Given the description of an element on the screen output the (x, y) to click on. 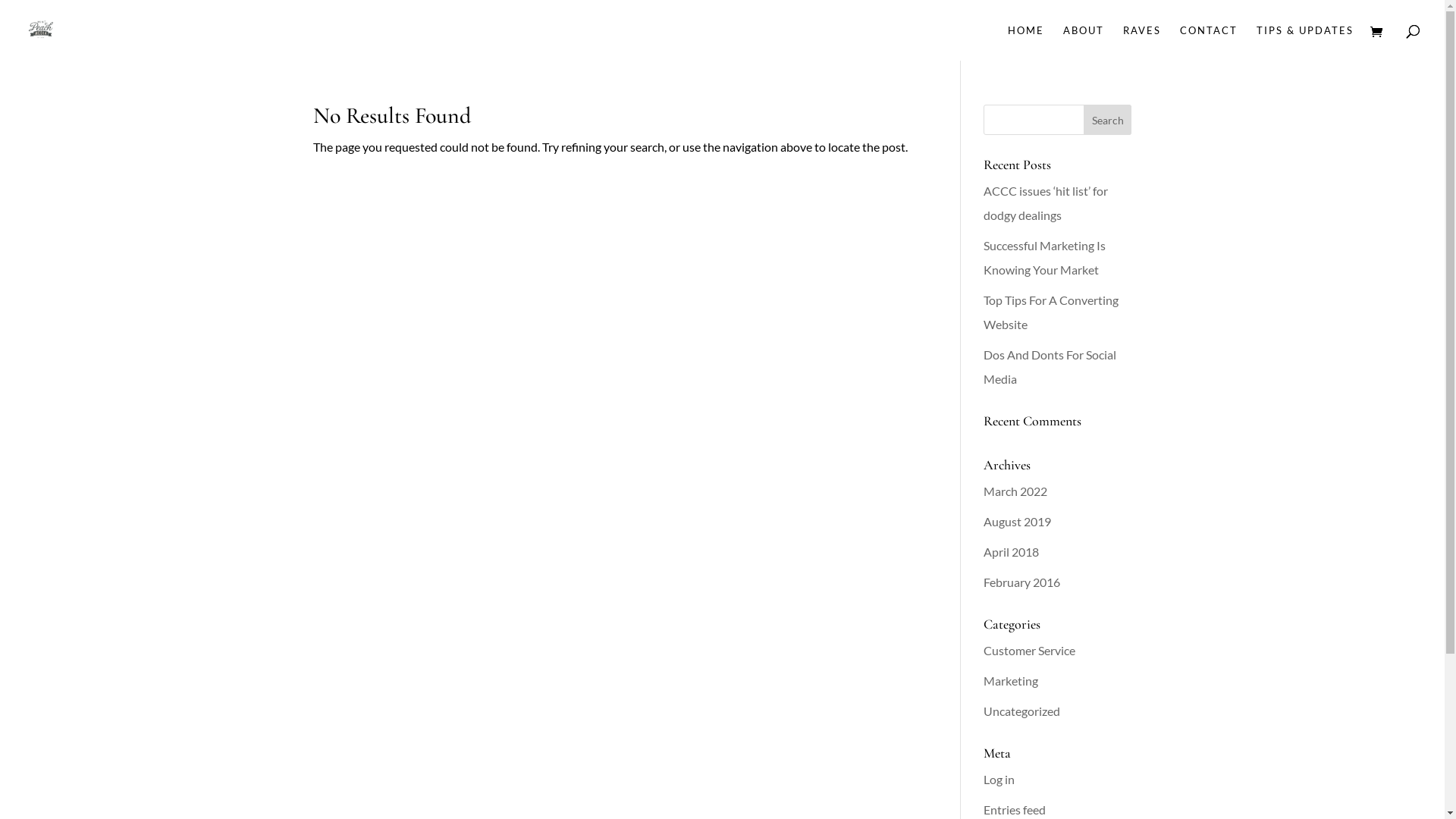
Customer Service Element type: text (1029, 650)
February 2016 Element type: text (1021, 581)
ABOUT Element type: text (1083, 42)
Entries feed Element type: text (1014, 809)
August 2019 Element type: text (1017, 521)
RAVES Element type: text (1142, 42)
Top Tips For A Converting Website Element type: text (1050, 311)
Marketing Element type: text (1010, 680)
March 2022 Element type: text (1015, 490)
CONTACT Element type: text (1208, 42)
Dos And Donts For Social Media Element type: text (1049, 366)
Search Element type: text (1107, 119)
Log in Element type: text (998, 778)
April 2018 Element type: text (1010, 551)
Uncategorized Element type: text (1021, 710)
TIPS & UPDATES Element type: text (1304, 42)
Successful Marketing Is Knowing Your Market Element type: text (1044, 257)
HOME Element type: text (1025, 42)
